Given the description of an element on the screen output the (x, y) to click on. 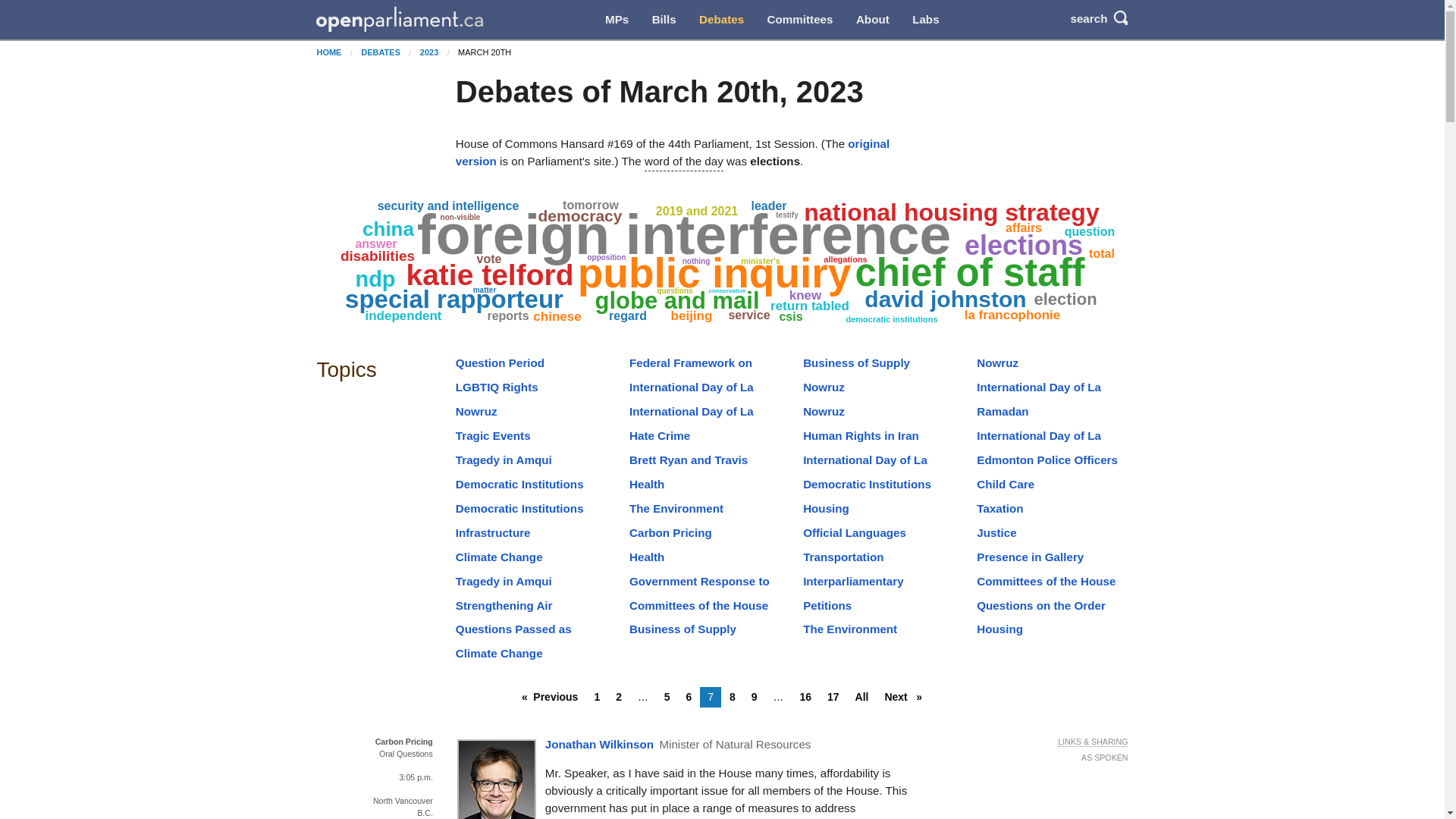
Brett Ryan and Travis Jordan (688, 468)
Democratic Institutions (519, 483)
About (872, 19)
Human Rights in Iran (860, 435)
International Day of La Francophonie (865, 468)
Child Care (1004, 483)
Edmonton Police Officers (1047, 459)
Nowruz (996, 362)
MPs (617, 19)
search (1092, 18)
